Given the description of an element on the screen output the (x, y) to click on. 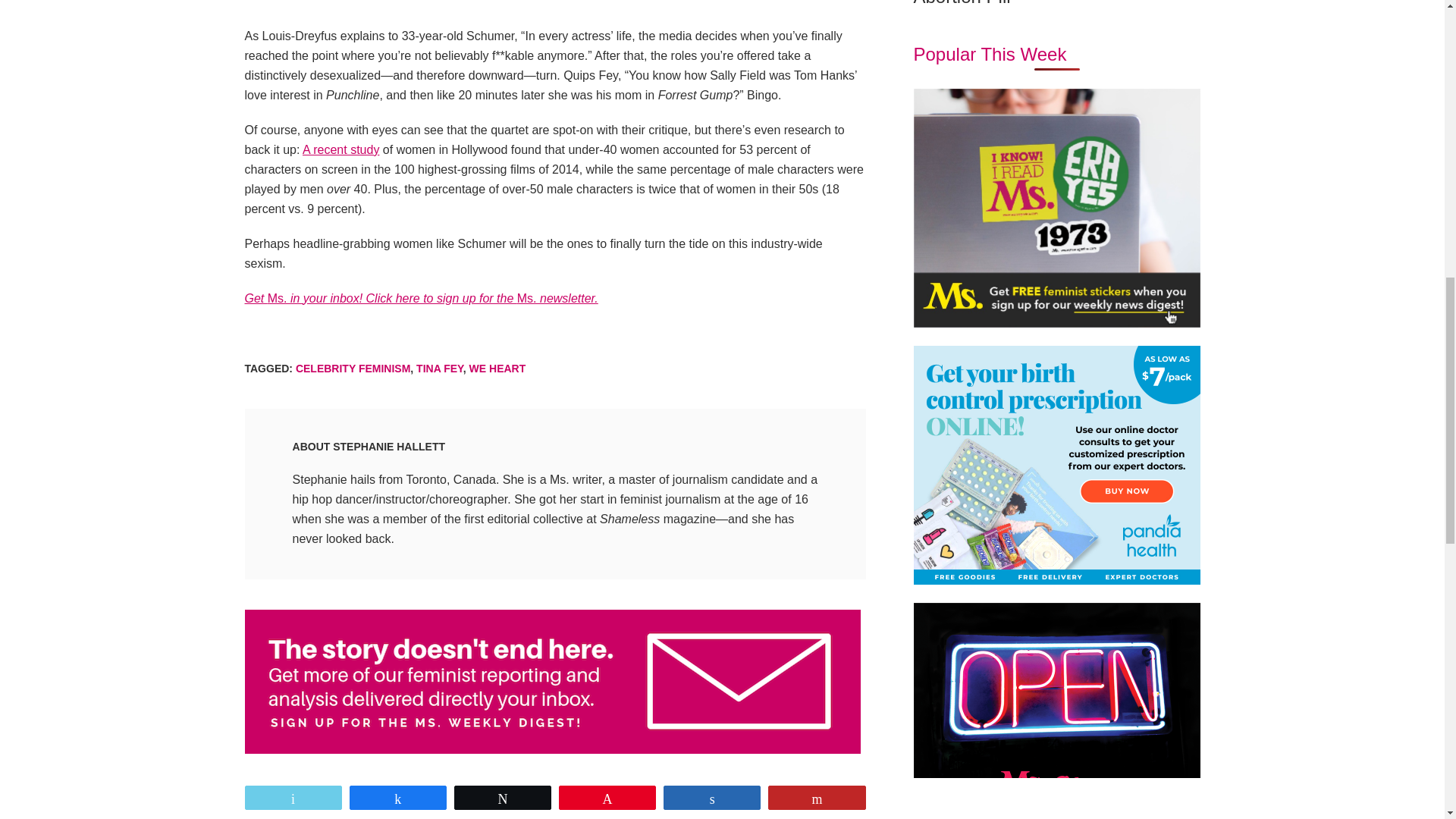
Posts by Stephanie Hallett (389, 446)
A recent study (340, 149)
CELEBRITY FEMINISM (352, 368)
